Given the description of an element on the screen output the (x, y) to click on. 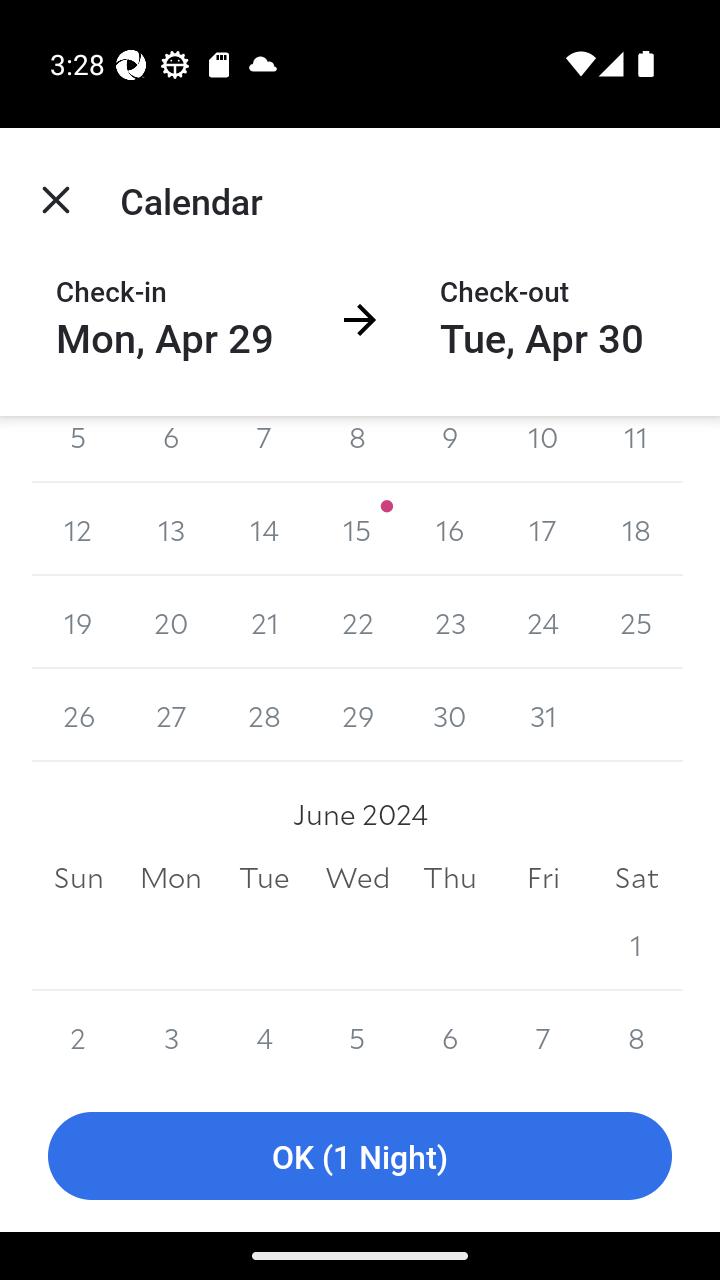
5 5 May 2024 (78, 449)
6 6 May 2024 (171, 449)
7 7 May 2024 (264, 449)
8 8 May 2024 (357, 449)
9 9 May 2024 (449, 449)
10 10 May 2024 (542, 449)
11 11 May 2024 (636, 449)
12 12 May 2024 (78, 529)
13 13 May 2024 (171, 529)
14 14 May 2024 (264, 529)
15 15 May 2024 (357, 529)
16 16 May 2024 (449, 529)
17 17 May 2024 (542, 529)
18 18 May 2024 (636, 529)
19 19 May 2024 (78, 622)
20 20 May 2024 (171, 622)
21 21 May 2024 (264, 622)
22 22 May 2024 (357, 622)
23 23 May 2024 (449, 622)
24 24 May 2024 (542, 622)
25 25 May 2024 (636, 622)
26 26 May 2024 (78, 715)
27 27 May 2024 (171, 715)
28 28 May 2024 (264, 715)
29 29 May 2024 (357, 715)
30 30 May 2024 (449, 715)
31 31 May 2024 (542, 715)
Sun (78, 877)
Mon (171, 877)
Tue (264, 877)
Wed (357, 877)
Thu (449, 877)
Fri (542, 877)
Sat (636, 877)
1 1 June 2024 (636, 944)
2 2 June 2024 (78, 1035)
3 3 June 2024 (171, 1035)
4 4 June 2024 (264, 1035)
5 5 June 2024 (357, 1035)
6 6 June 2024 (449, 1035)
7 7 June 2024 (542, 1035)
8 8 June 2024 (636, 1035)
OK (1 Night) (359, 1156)
